Given the description of an element on the screen output the (x, y) to click on. 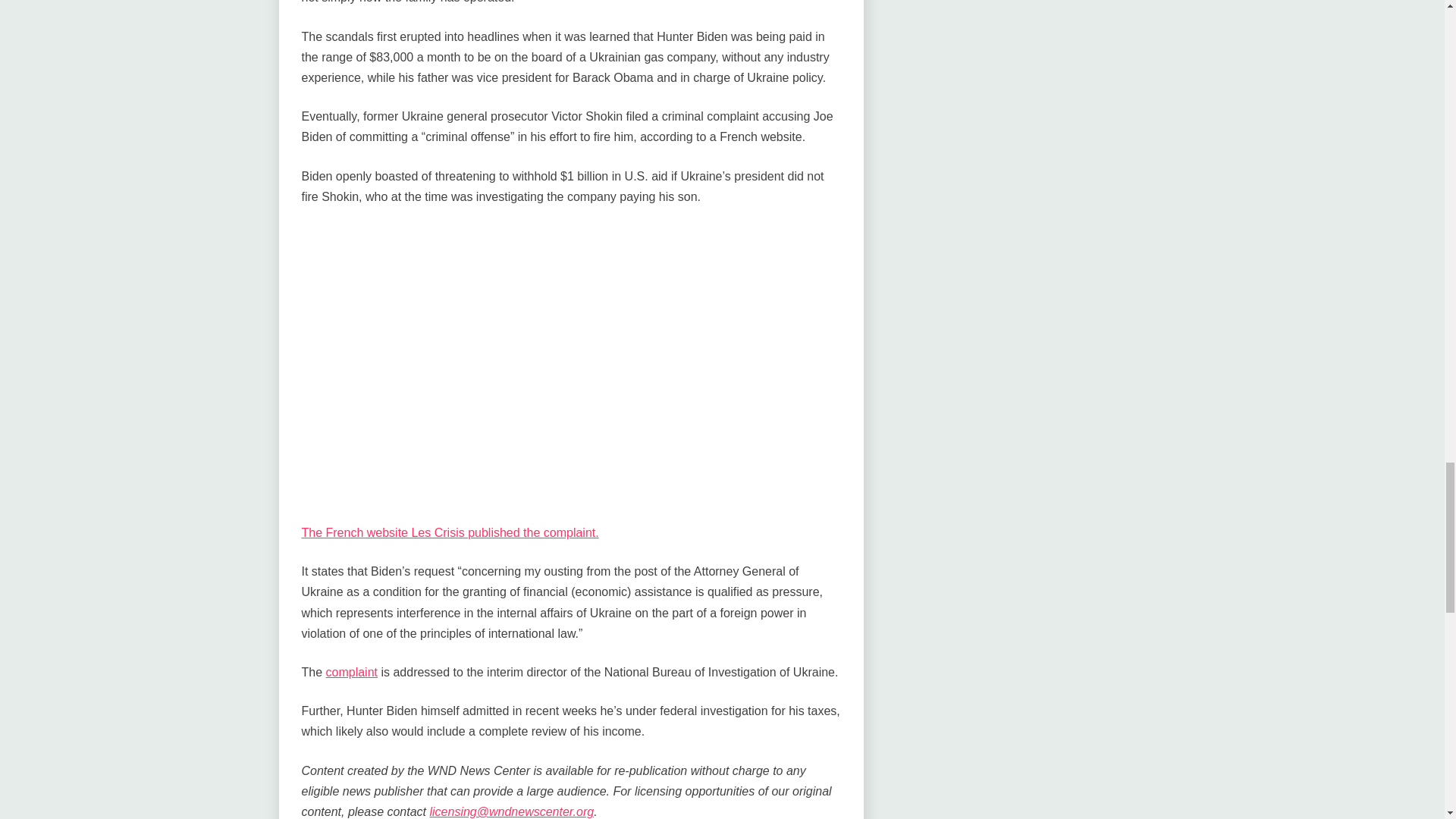
complaint (351, 671)
The French website Les Crisis published the complaint. (449, 532)
Clip: Joe Biden on Responding to Russian Cyberattacks (544, 361)
